Given the description of an element on the screen output the (x, y) to click on. 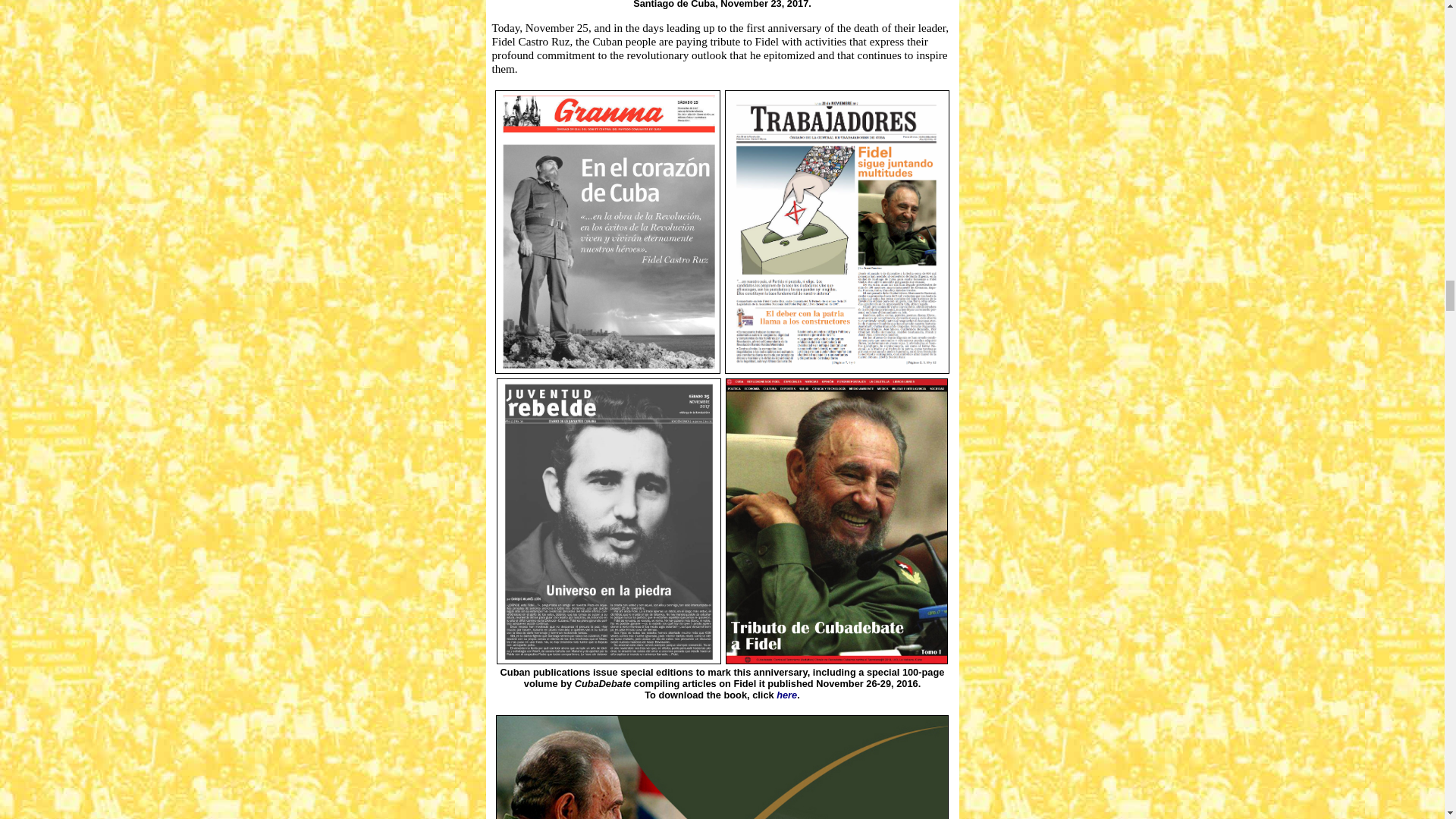
here (786, 695)
